Given the description of an element on the screen output the (x, y) to click on. 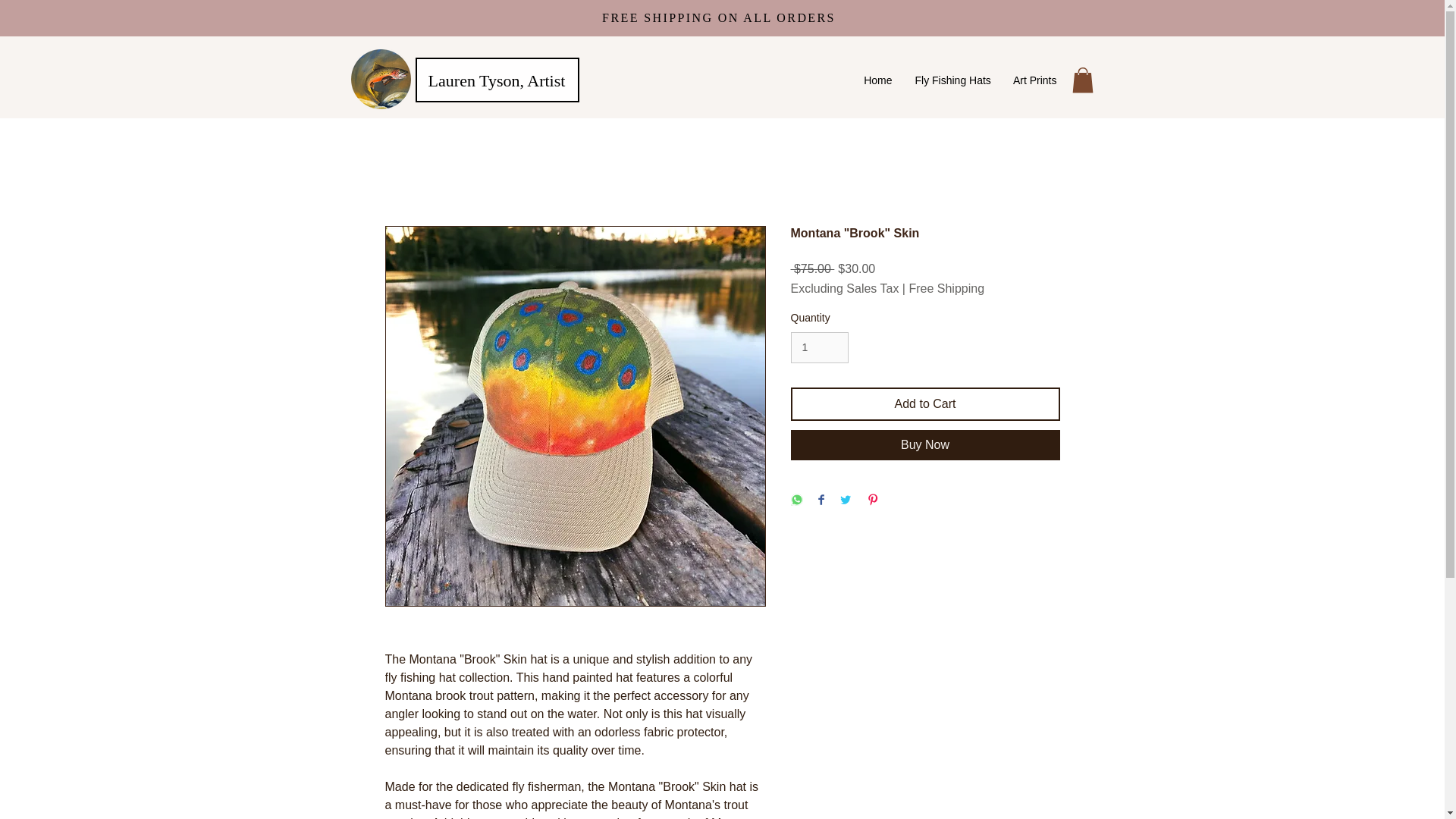
Add to Cart (924, 403)
Free Shipping (946, 288)
Lauren Tyson, Artist (497, 80)
Buy Now (924, 444)
Fly Fishing Hats (952, 80)
1 (818, 347)
Home (877, 80)
Art Prints (1034, 80)
